Given the description of an element on the screen output the (x, y) to click on. 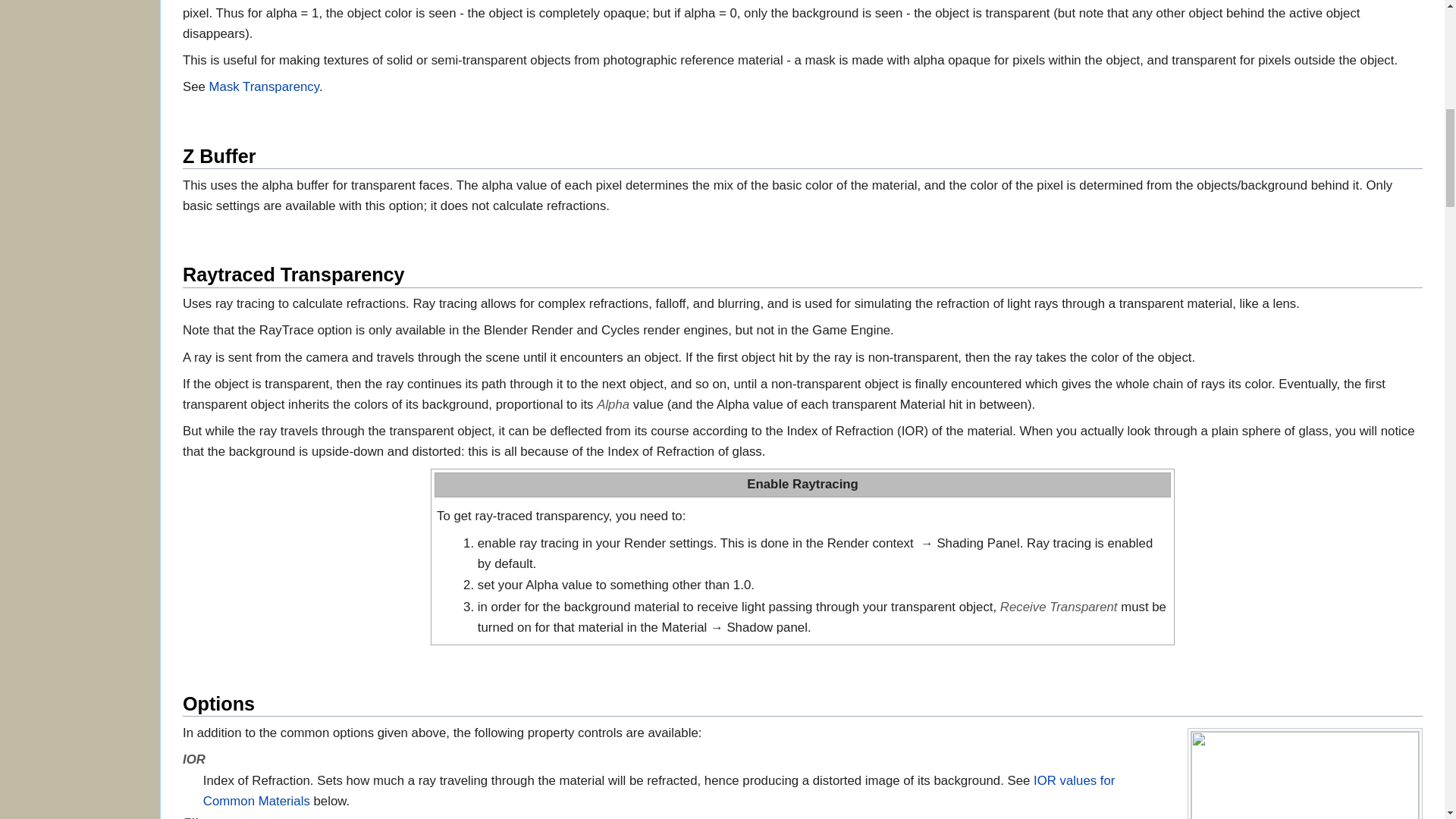
Mask Transparency (263, 86)
IOR values for Common Materials (659, 790)
